Given the description of an element on the screen output the (x, y) to click on. 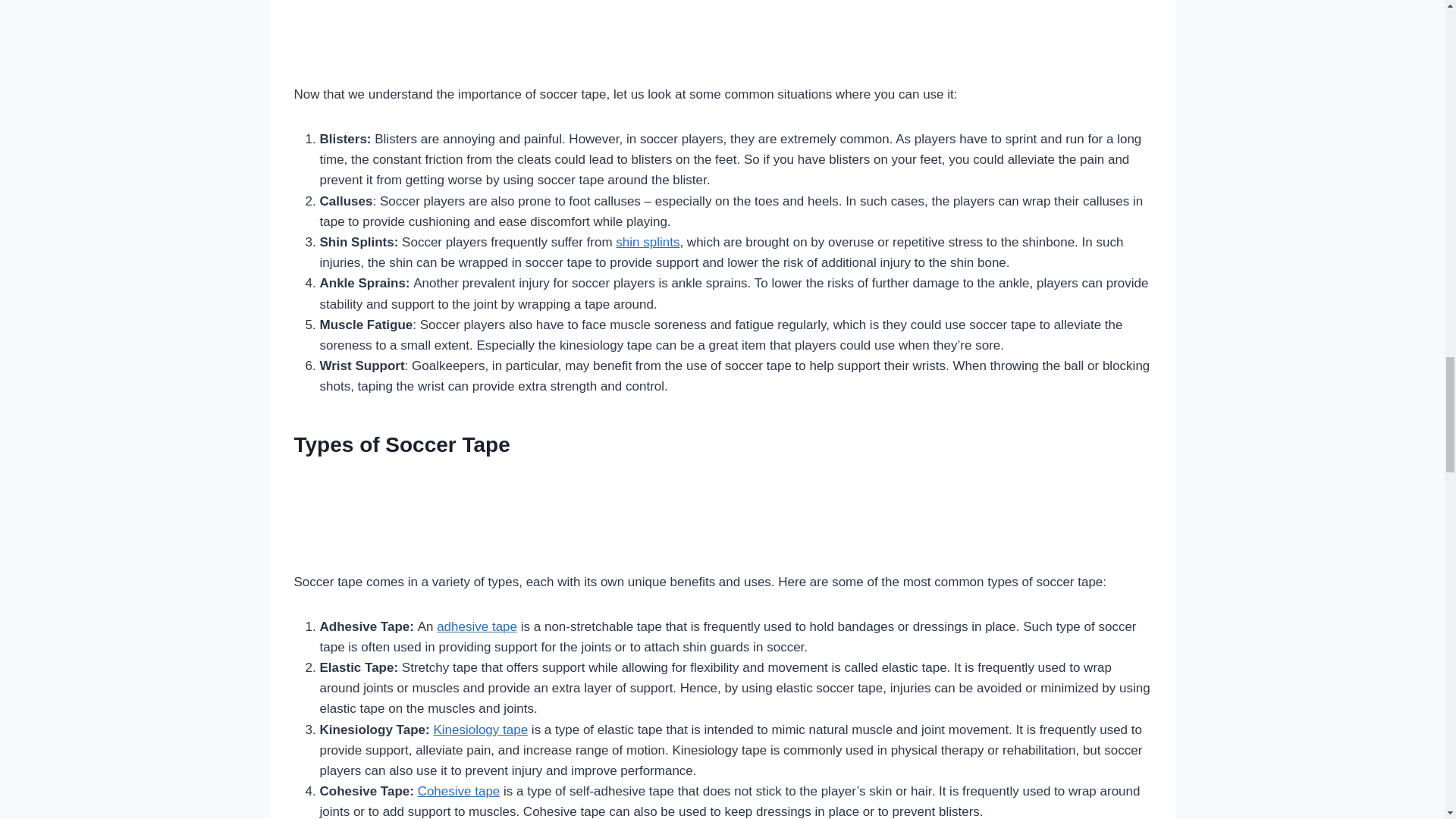
shin splints (647, 242)
adhesive tape (476, 626)
Cohesive tape (458, 790)
Kinesiology tape (479, 729)
